Given the description of an element on the screen output the (x, y) to click on. 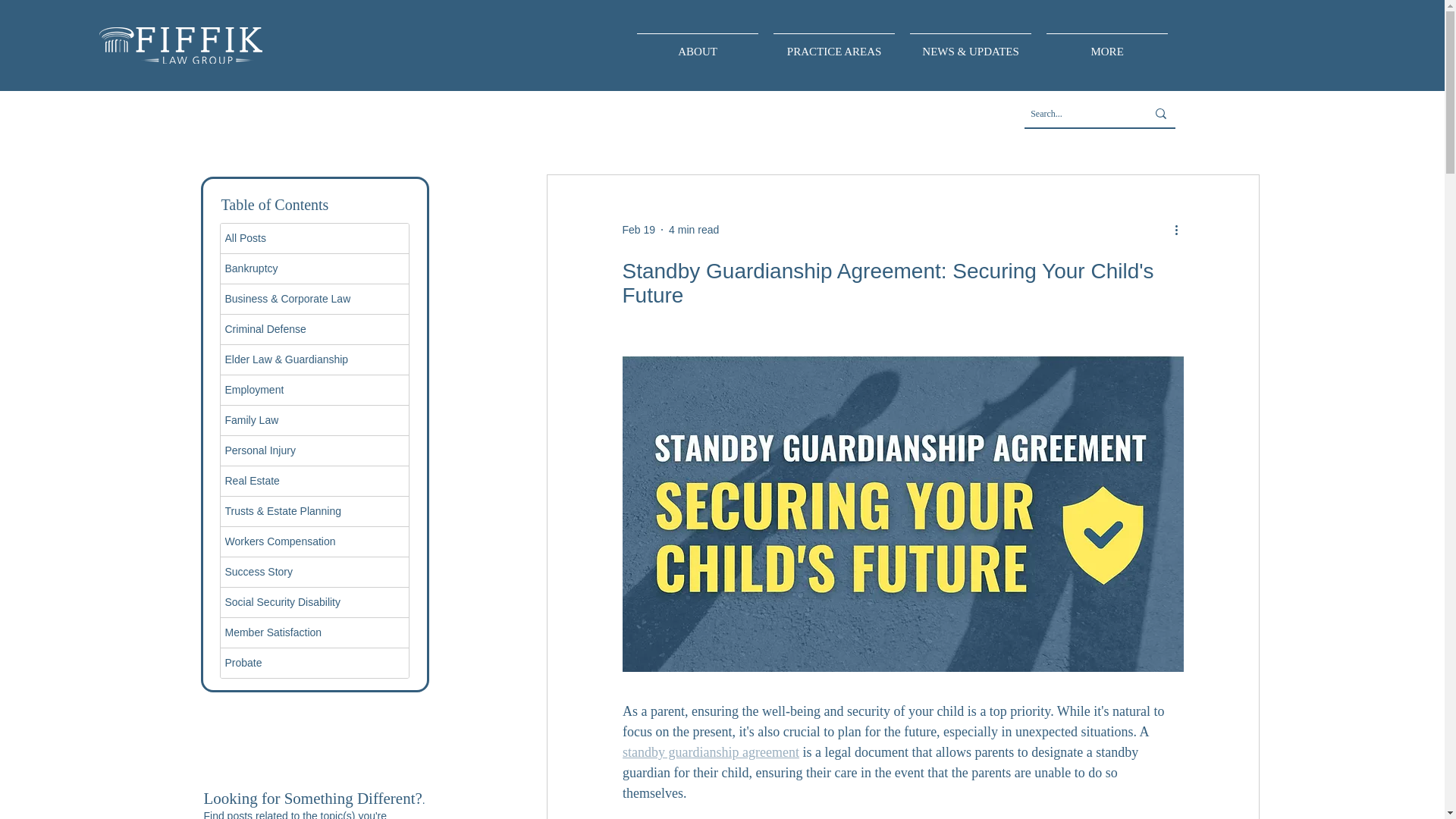
Probate (313, 663)
ABOUT (696, 44)
Personal Injury (313, 450)
Real Estate (313, 481)
Bankruptcy (313, 268)
Social Security Disability (313, 602)
Workers Compensation (313, 541)
Feb 19 (638, 228)
Criminal Defense (313, 328)
Family Law (313, 419)
